Given the description of an element on the screen output the (x, y) to click on. 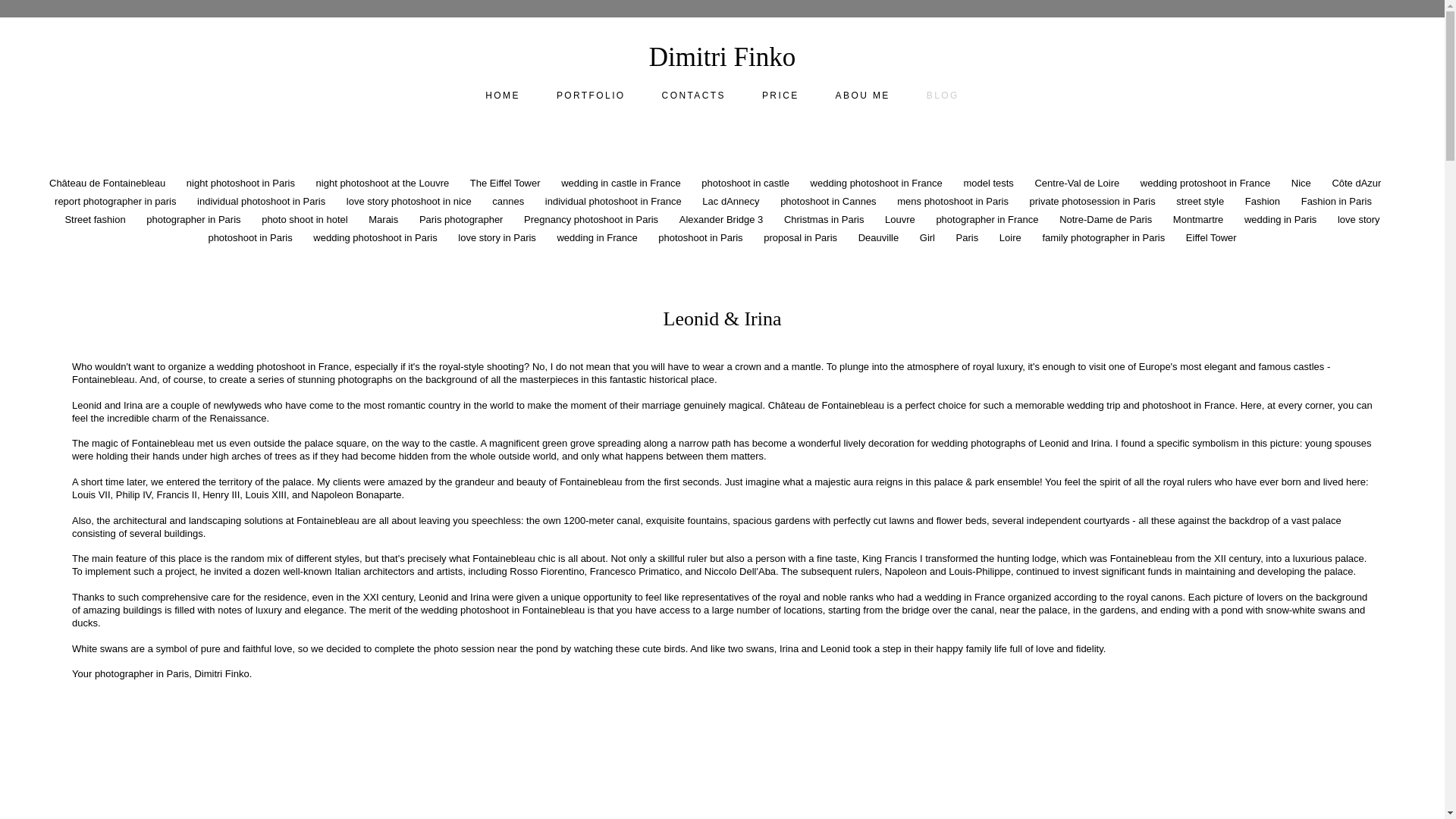
wedding in castle in France (621, 183)
model tests (989, 183)
photoshoot in castle (746, 183)
Dimitri Finko (722, 57)
BLOG (942, 95)
PRICE (780, 95)
CONTACTS (693, 95)
The Eiffel Tower (506, 183)
HOME (501, 95)
night photoshoot at the Louvre (383, 183)
